Given the description of an element on the screen output the (x, y) to click on. 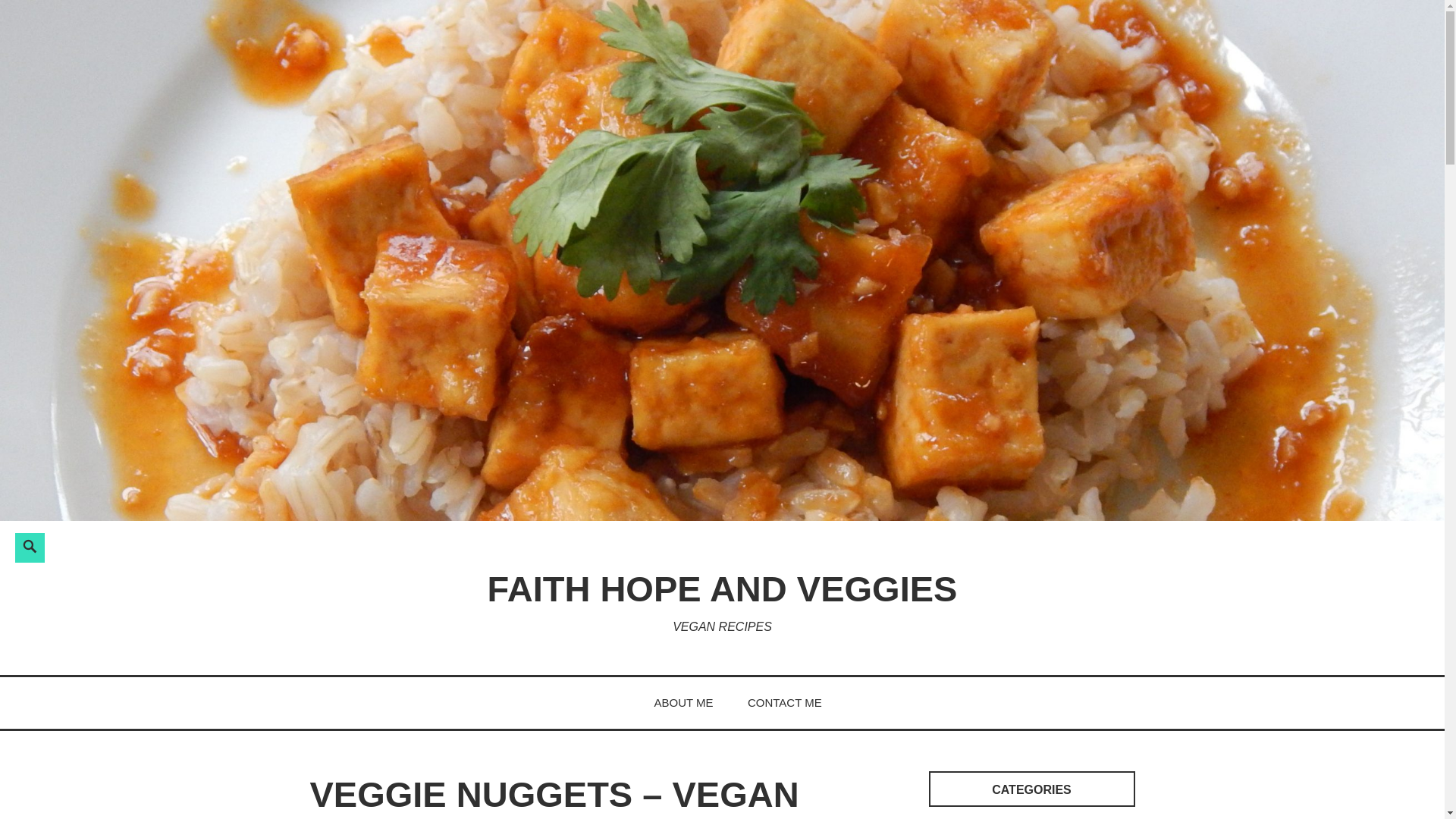
FAITH HOPE AND VEGGIES (722, 588)
ABOUT ME (683, 702)
CONTACT ME (785, 702)
Search (242, 545)
Search (242, 545)
Search (242, 545)
